Given the description of an element on the screen output the (x, y) to click on. 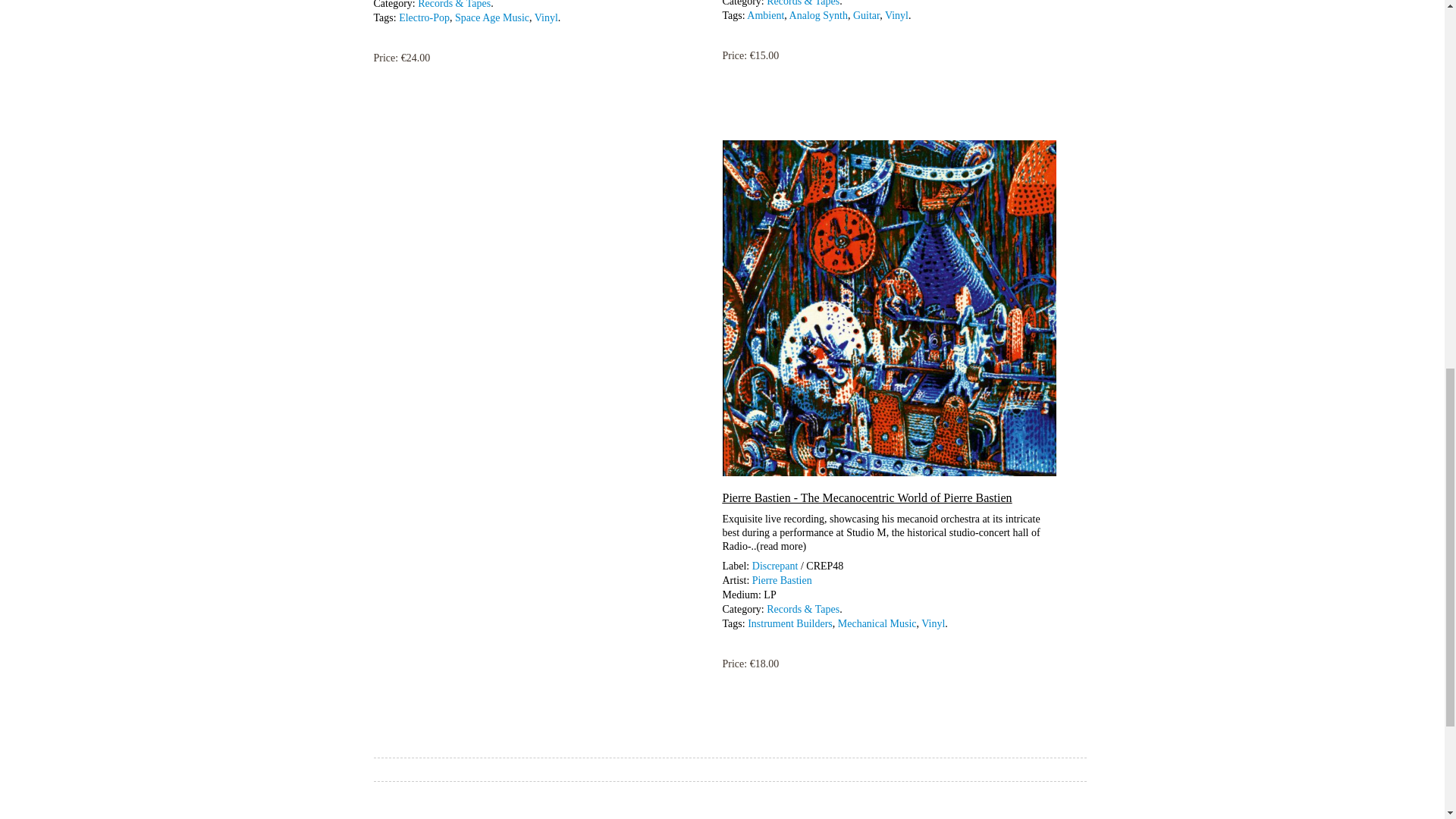
Electro-Pop (423, 17)
Space Age Music (491, 17)
Vinyl (545, 17)
